Given the description of an element on the screen output the (x, y) to click on. 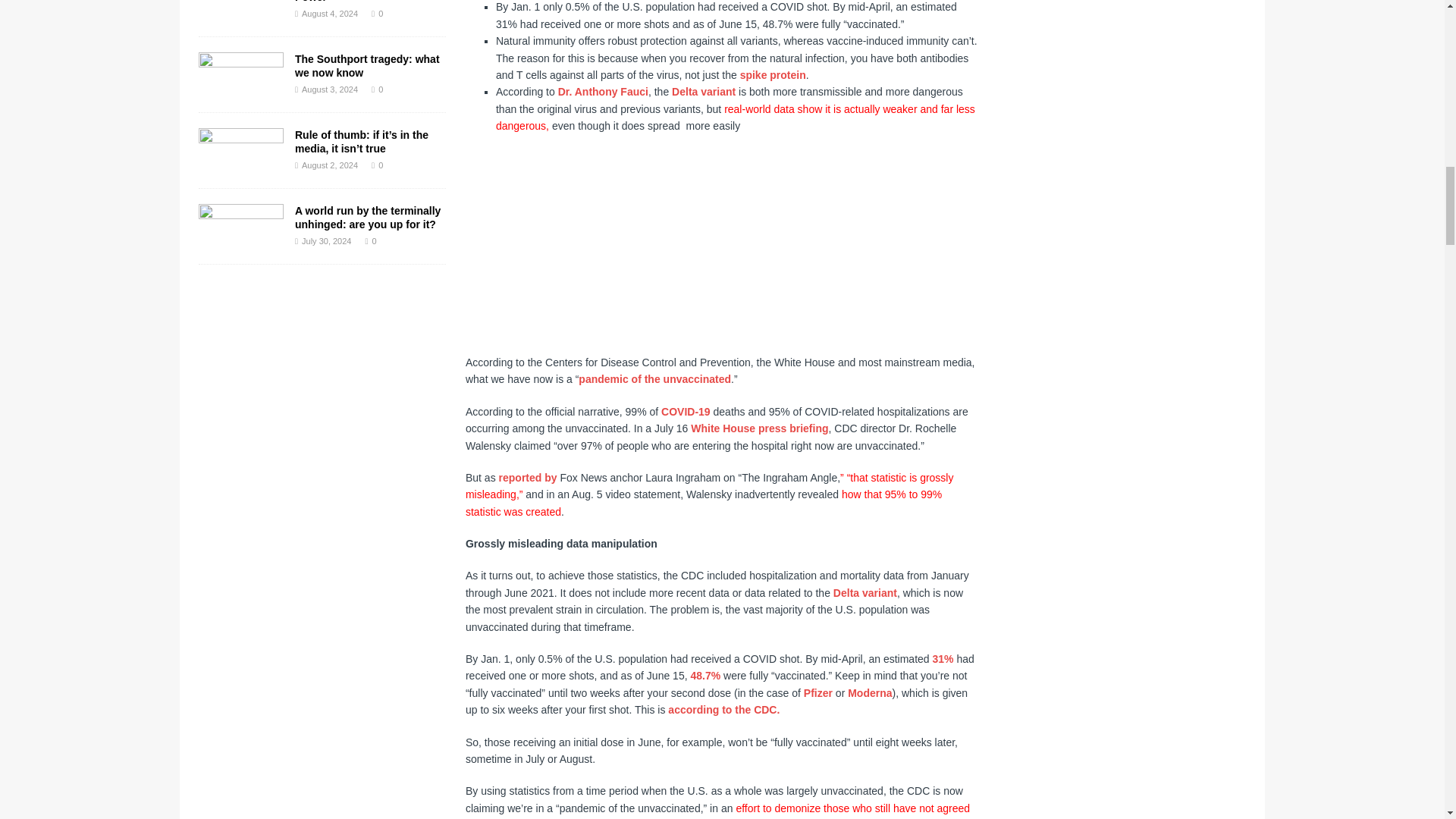
Delta variant (703, 91)
spike protein (772, 74)
Dr. Anthony Fauci (602, 91)
pandemic of the unvaccinated (654, 378)
